Given the description of an element on the screen output the (x, y) to click on. 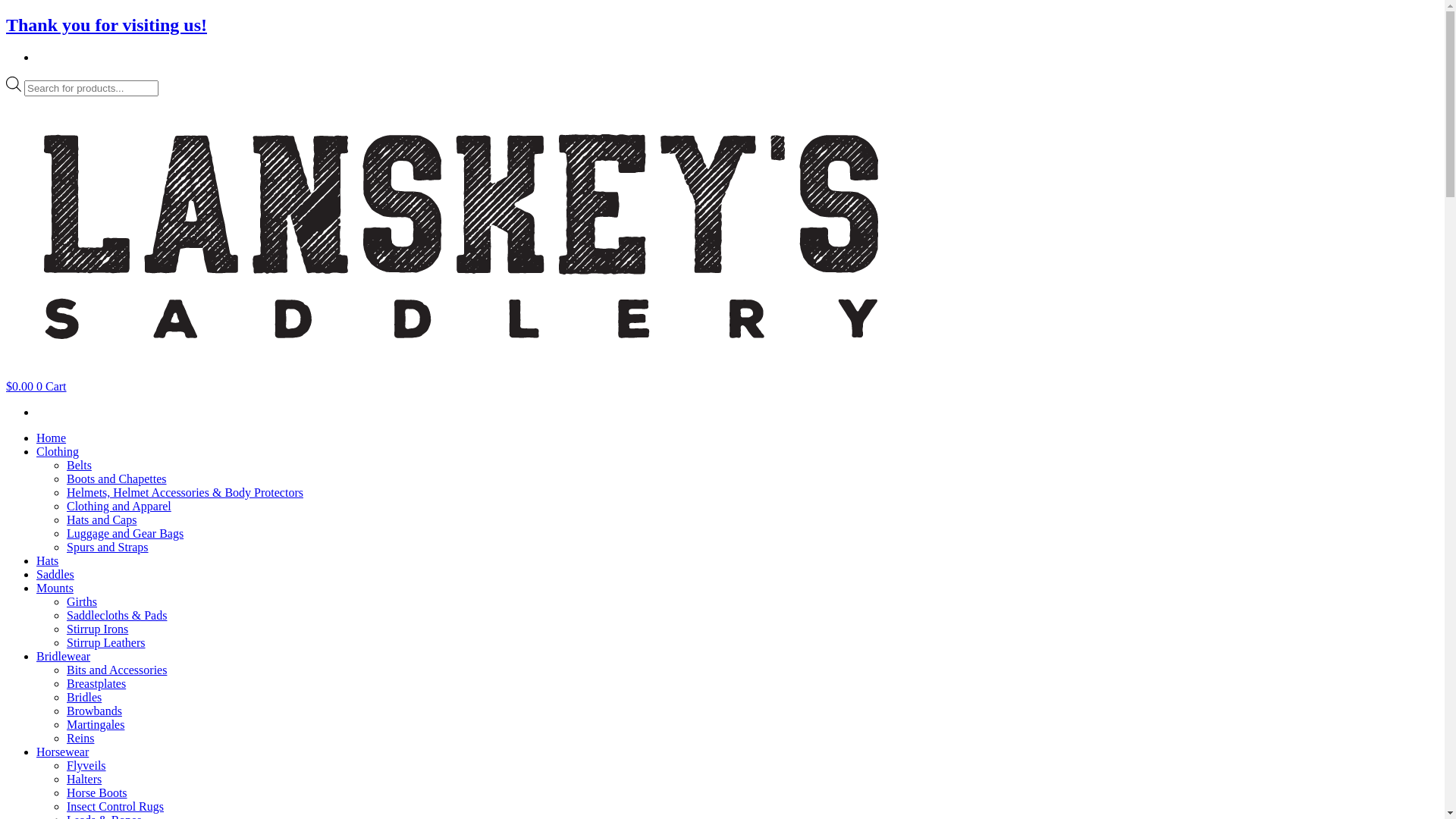
Bits and Accessories Element type: text (116, 669)
Horse Boots Element type: text (96, 792)
Insect Control Rugs Element type: text (114, 806)
Flyveils Element type: text (86, 765)
Boots and Chapettes Element type: text (116, 478)
Bridlewear Element type: text (63, 655)
Saddlecloths & Pads Element type: text (116, 614)
Luggage and Gear Bags Element type: text (124, 533)
Hats Element type: text (47, 560)
Horsewear Element type: text (62, 751)
Clothing Element type: text (57, 451)
Girths Element type: text (81, 601)
Bridles Element type: text (83, 696)
Thank you for visiting us! Element type: text (106, 24)
Halters Element type: text (83, 778)
Mounts Element type: text (54, 587)
Stirrup Irons Element type: text (97, 628)
Browbands Element type: text (94, 710)
Home Element type: text (50, 437)
Spurs and Straps Element type: text (107, 546)
Reins Element type: text (80, 737)
Clothing and Apparel Element type: text (118, 505)
Martingales Element type: text (95, 724)
Skip to content Element type: text (5, 14)
Saddles Element type: text (55, 573)
Stirrup Leathers Element type: text (105, 642)
Breastplates Element type: text (95, 683)
Hats and Caps Element type: text (101, 519)
Helmets, Helmet Accessories & Body Protectors Element type: text (184, 492)
Belts Element type: text (78, 464)
$0.00 0 Cart Element type: text (36, 385)
